Given the description of an element on the screen output the (x, y) to click on. 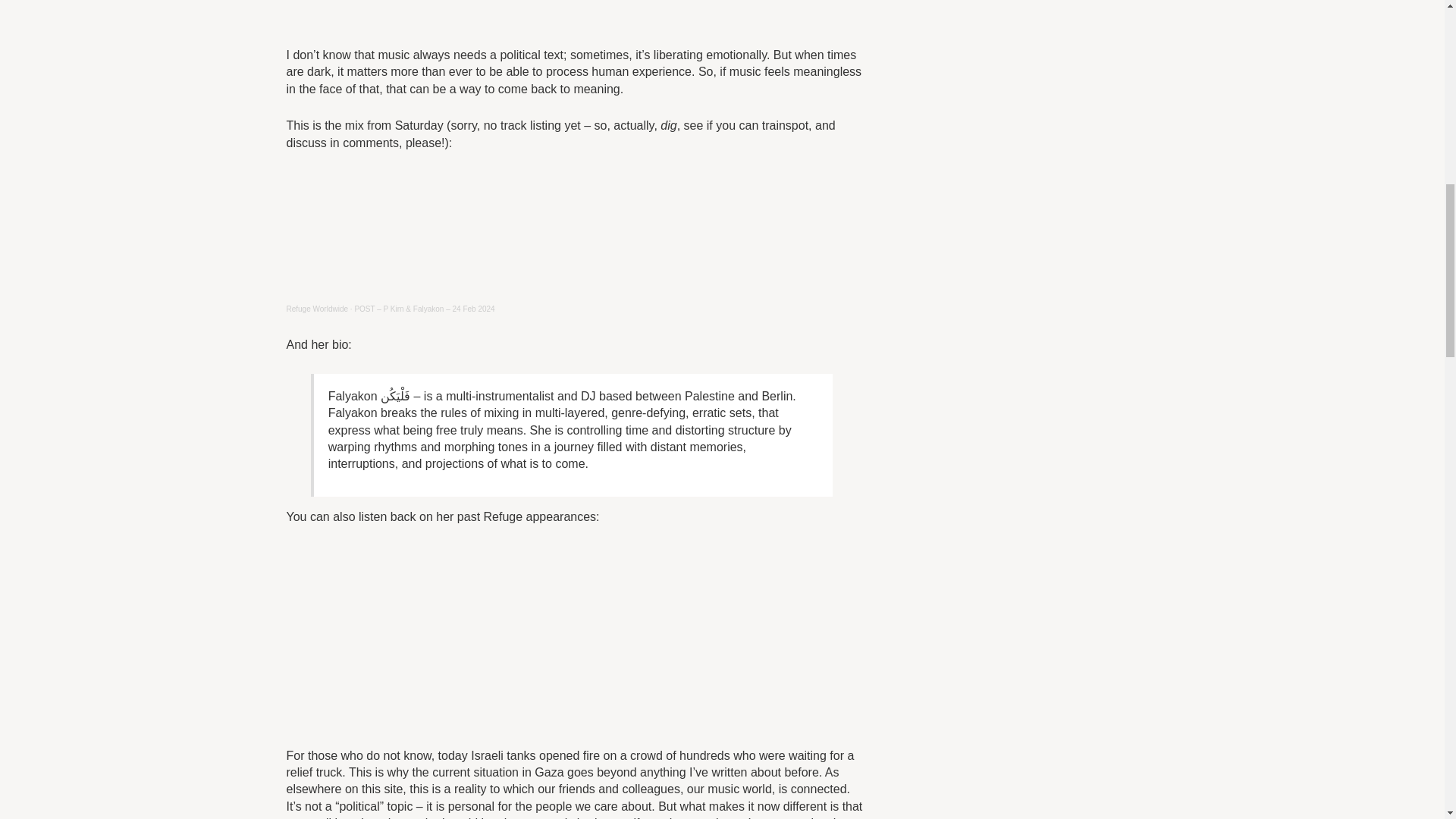
Refuge Worldwide (317, 308)
Refuge Worldwide (317, 308)
